Given the description of an element on the screen output the (x, y) to click on. 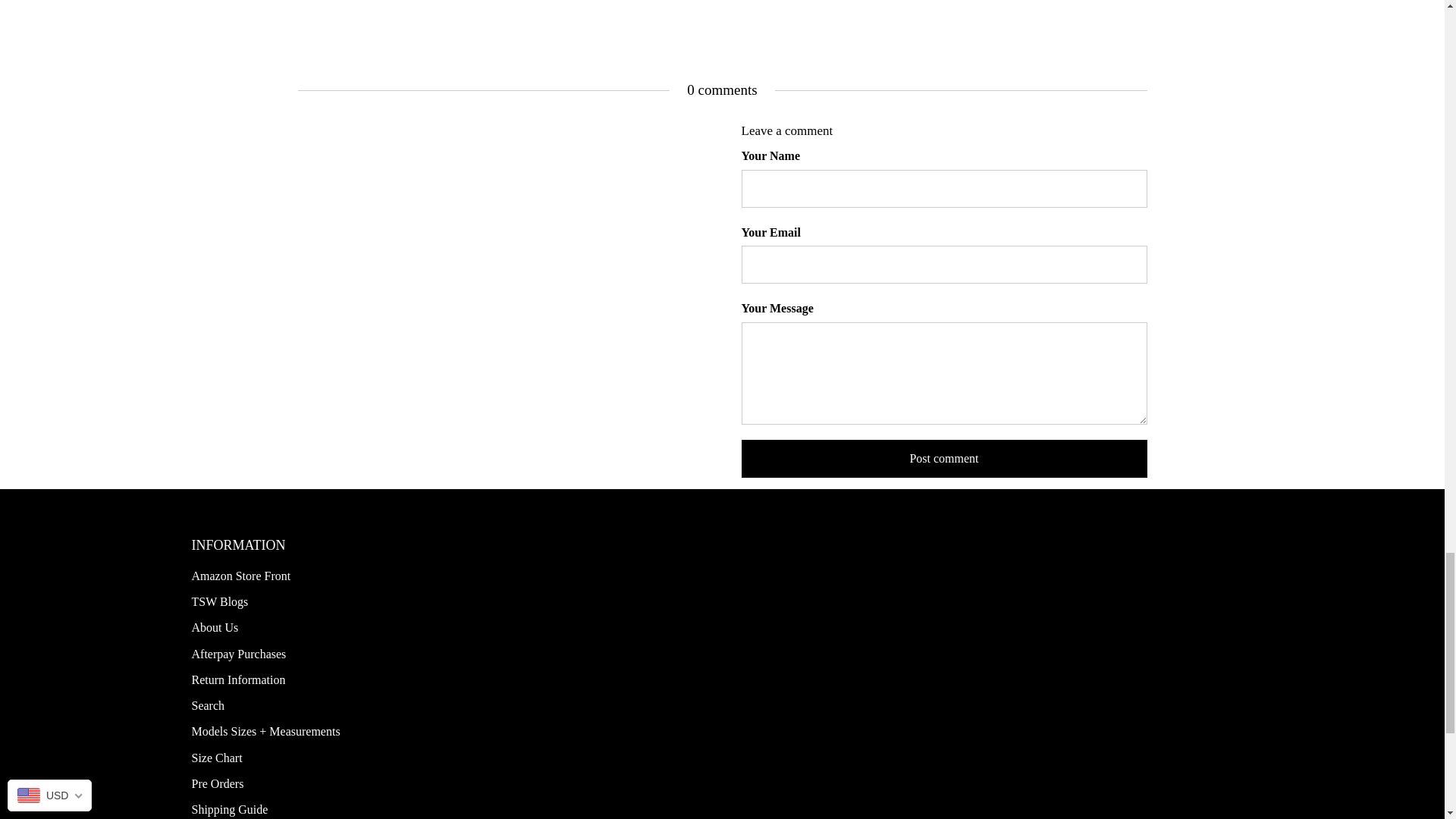
Post comment (944, 458)
